Given the description of an element on the screen output the (x, y) to click on. 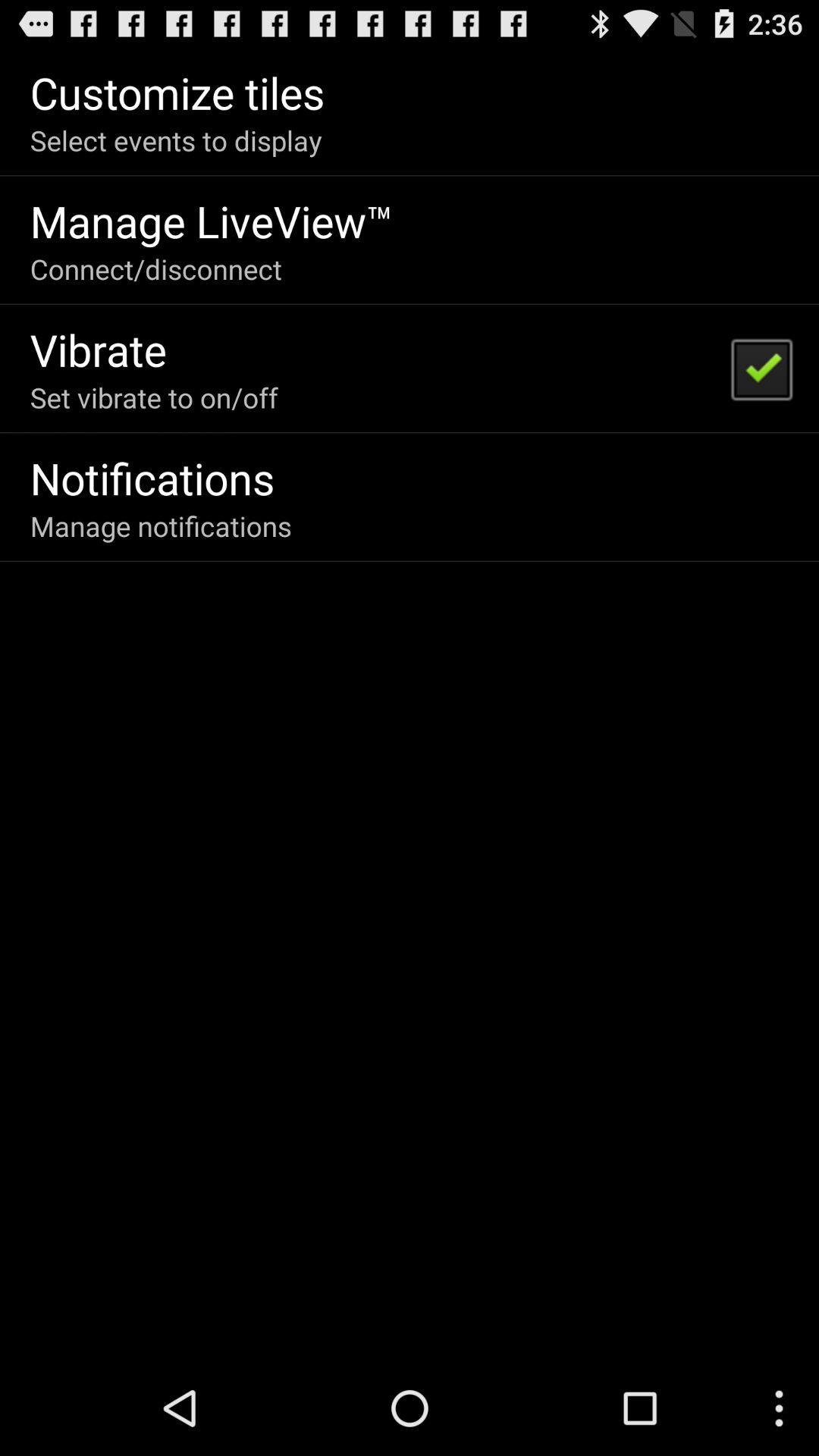
turn on icon to the right of the set vibrate to item (761, 368)
